Given the description of an element on the screen output the (x, y) to click on. 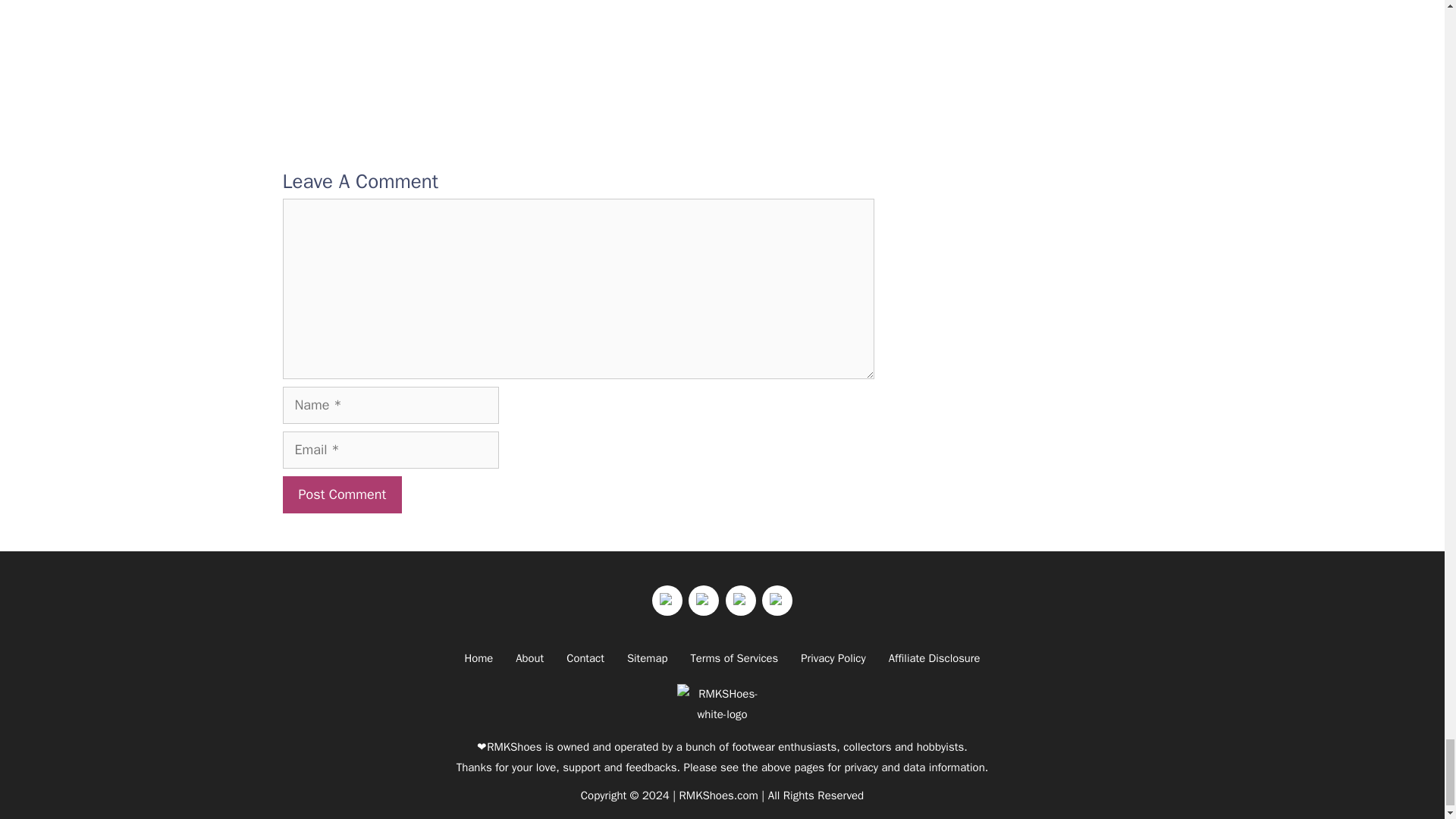
Twitter (667, 600)
Youtube (740, 600)
Instagram (703, 600)
Post Comment (341, 494)
